Given the description of an element on the screen output the (x, y) to click on. 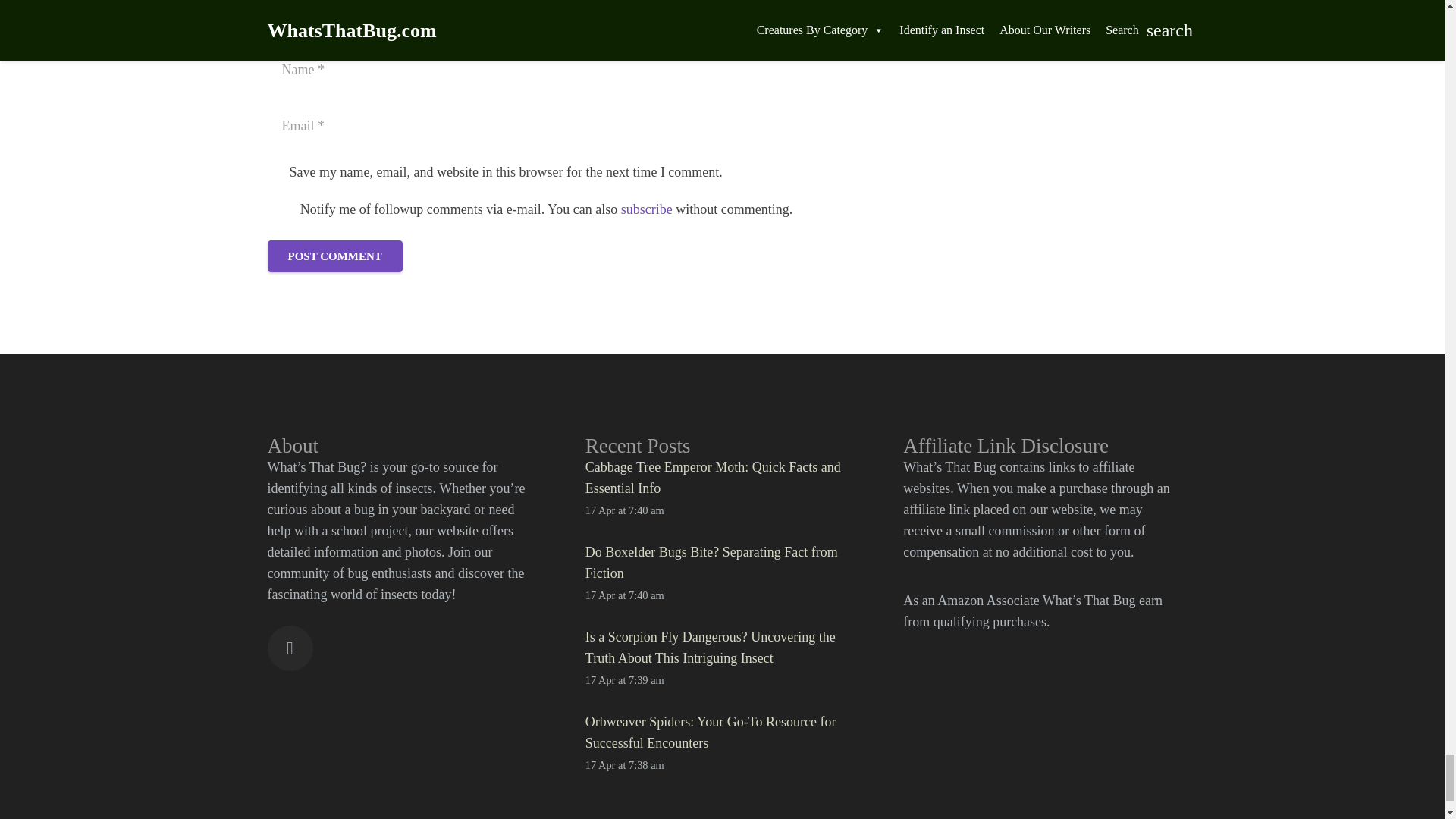
1 (274, 173)
yes (278, 208)
